Given the description of an element on the screen output the (x, y) to click on. 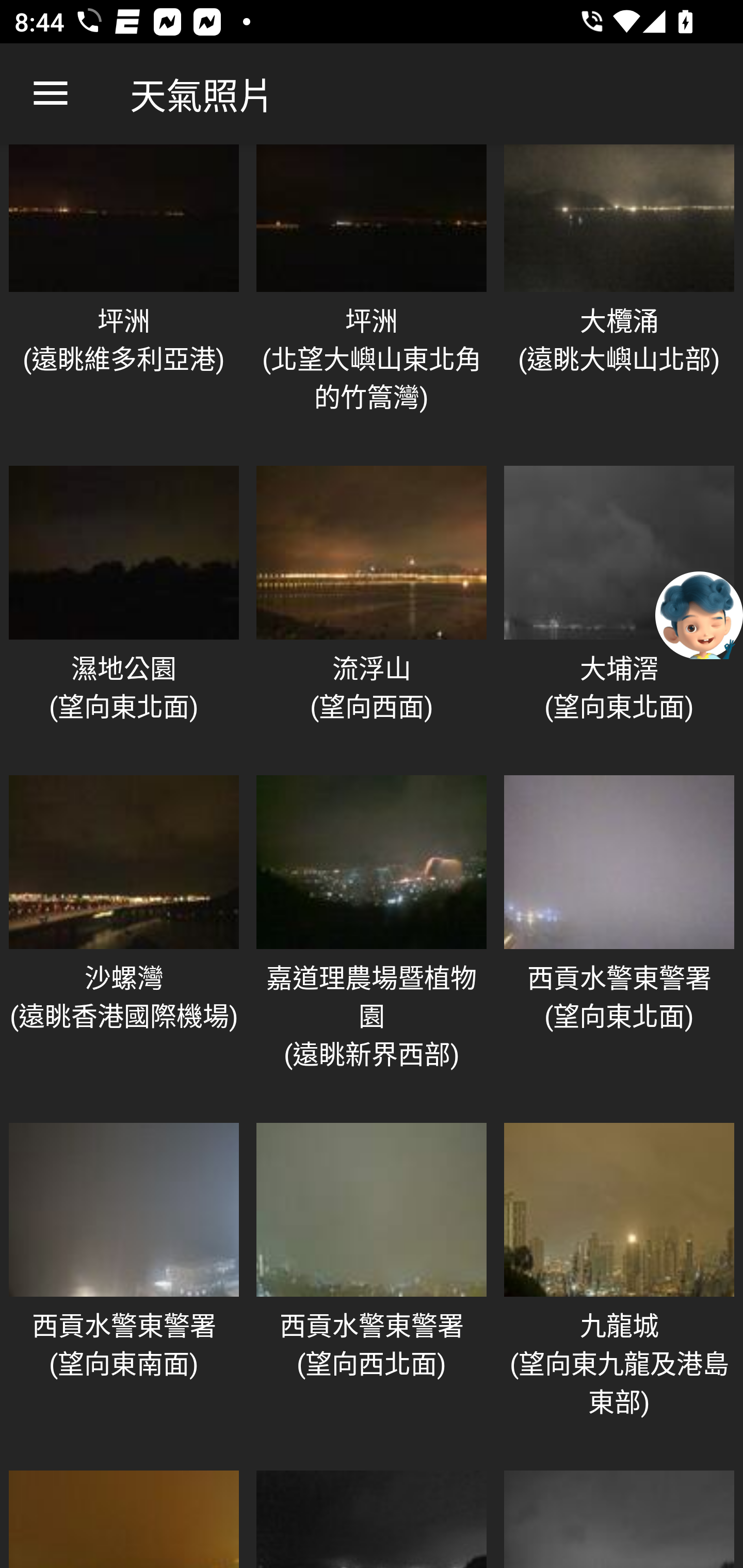
向上瀏覽 (50, 93)
坪洲
(遠眺維多利亞港) (123, 298)
坪洲
(北望大嶼山東北角的竹篙灣) (371, 298)
大欖涌
(遠眺大嶼山北部) (619, 298)
濕地公園
(望向東北面) (123, 609)
流浮山
(望向西面) (371, 609)
大埔滘
(望向東北面) (619, 609)
聊天機械人 (699, 614)
沙螺灣
(遠眺香港國際機場) (123, 938)
嘉道理農場暨植物園
(遠眺新界西部) (371, 938)
西貢水警東警署
(望向東北面) (619, 938)
西貢水警東警署
(望向東南面) (123, 1286)
西貢水警東警署
(望向西北面) (371, 1286)
九龍城
(望向東九龍及港島東部) (619, 1286)
